Given the description of an element on the screen output the (x, y) to click on. 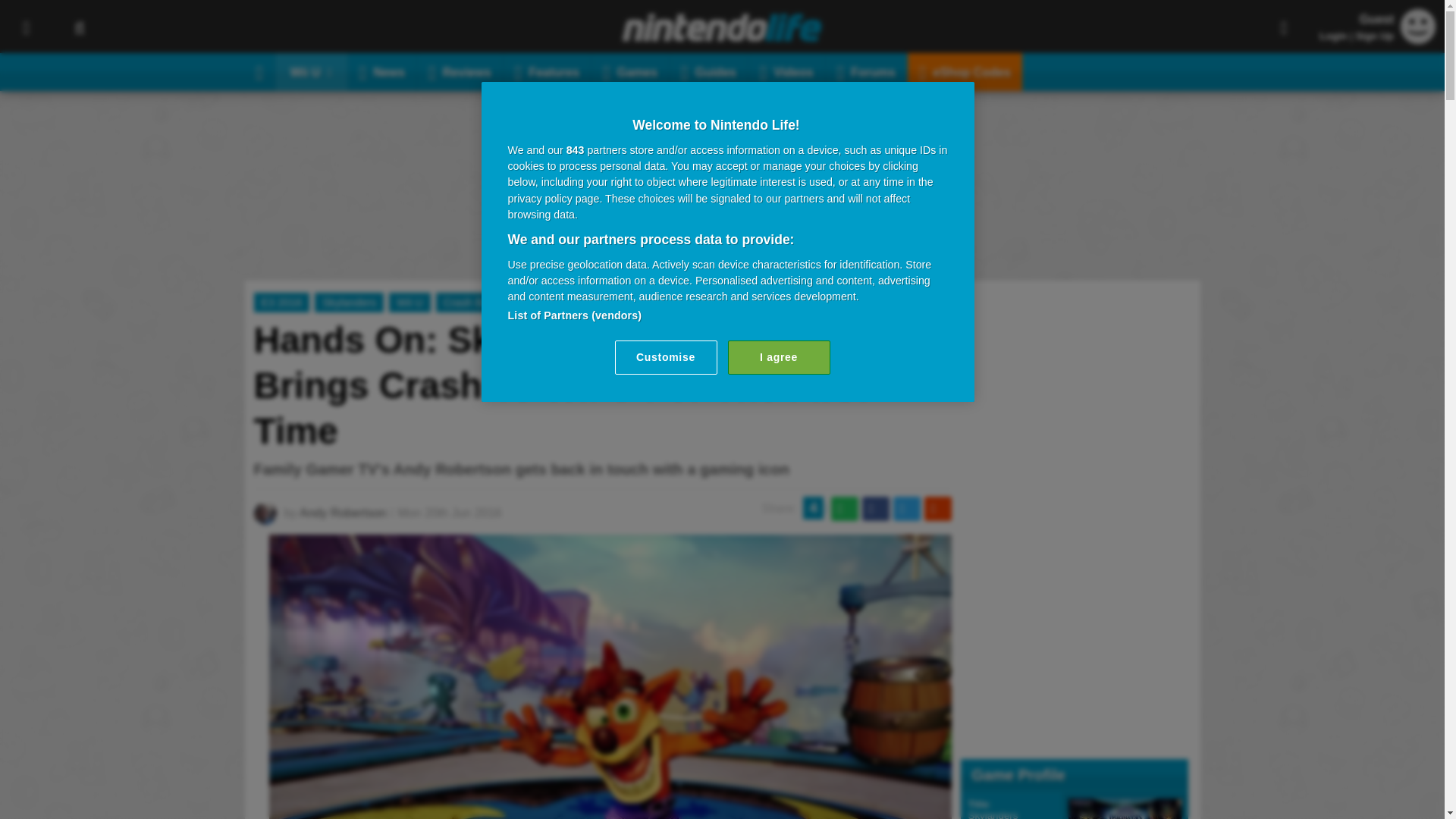
News (381, 71)
Share This Page (1283, 26)
Forums (866, 71)
Guest (1417, 26)
Search (79, 26)
Videos (786, 71)
Guest (1417, 39)
Guides (708, 71)
Sign Up (1374, 35)
Reviews (459, 71)
